Given the description of an element on the screen output the (x, y) to click on. 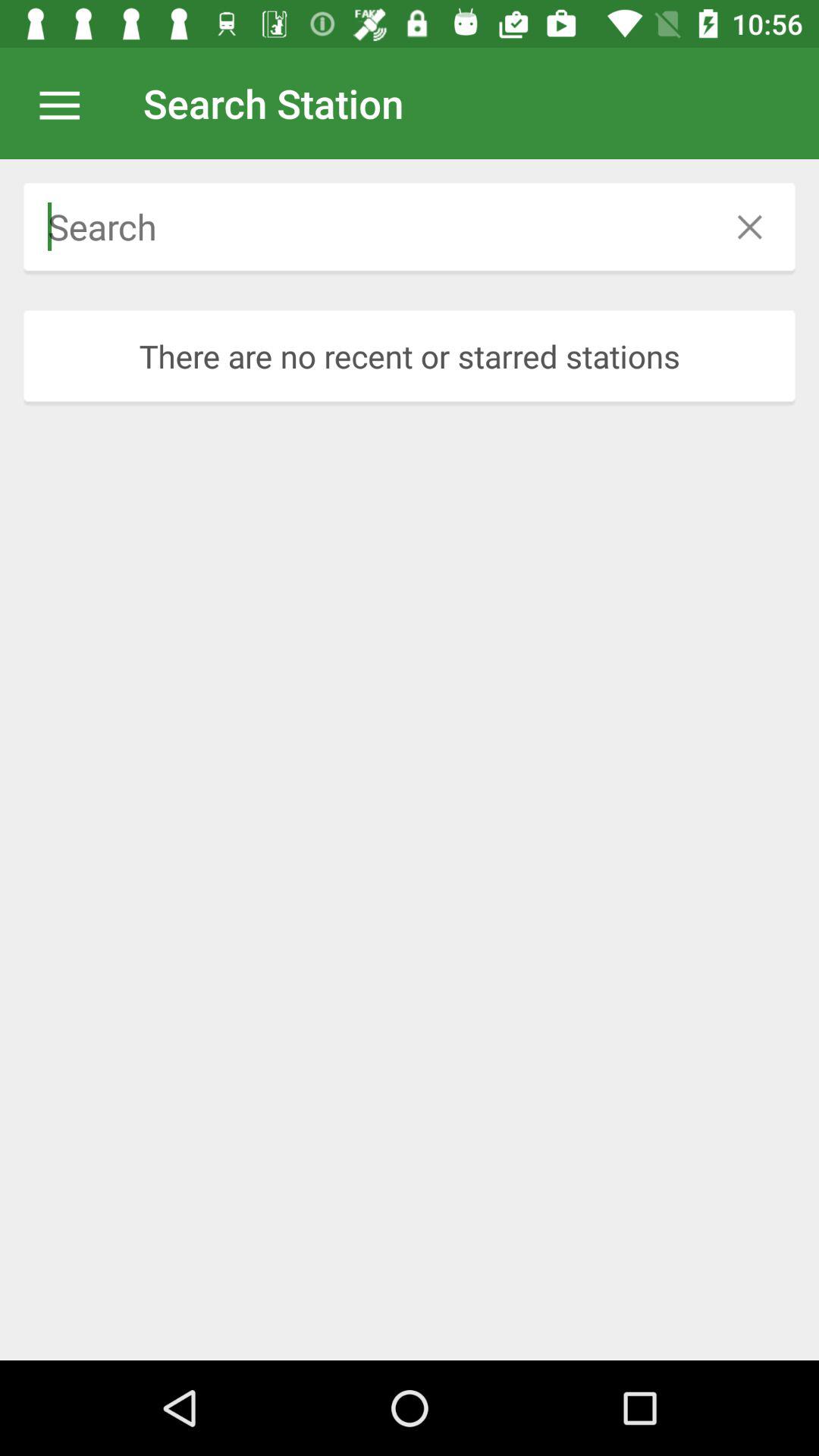
swipe until the there are no item (409, 355)
